Given the description of an element on the screen output the (x, y) to click on. 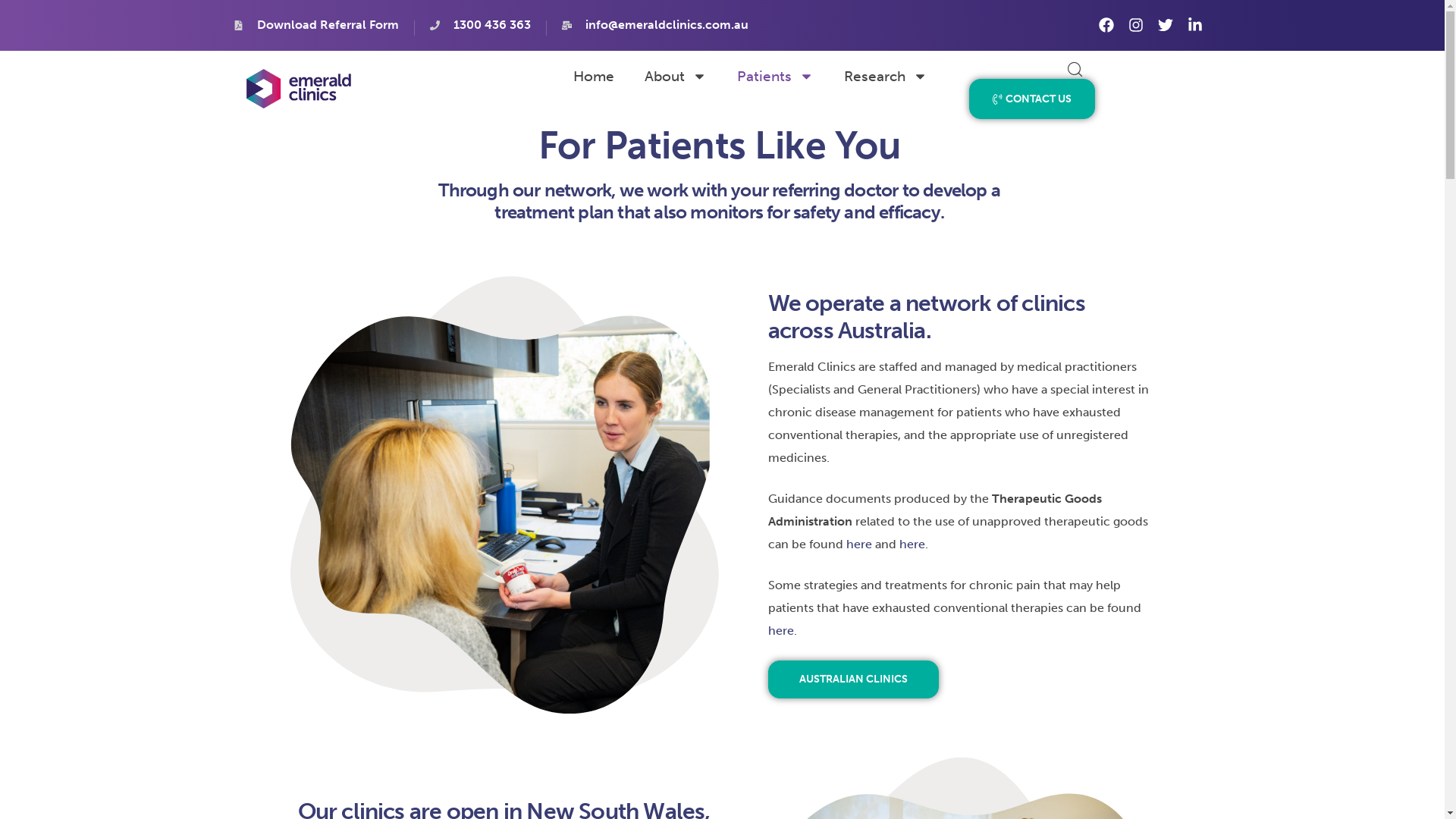
here Element type: text (859, 543)
Home Element type: text (593, 76)
Download Referral Form Element type: text (315, 25)
AUSTRALIAN CLINICS Element type: text (852, 679)
here Element type: text (912, 543)
Patients Element type: text (774, 76)
1300 436 363 Element type: text (479, 25)
CONTACT US Element type: text (1032, 98)
Research Element type: text (885, 76)
here Element type: text (780, 630)
info@emeraldclinics.com.au Element type: text (654, 25)
About Element type: text (675, 76)
